Given the description of an element on the screen output the (x, y) to click on. 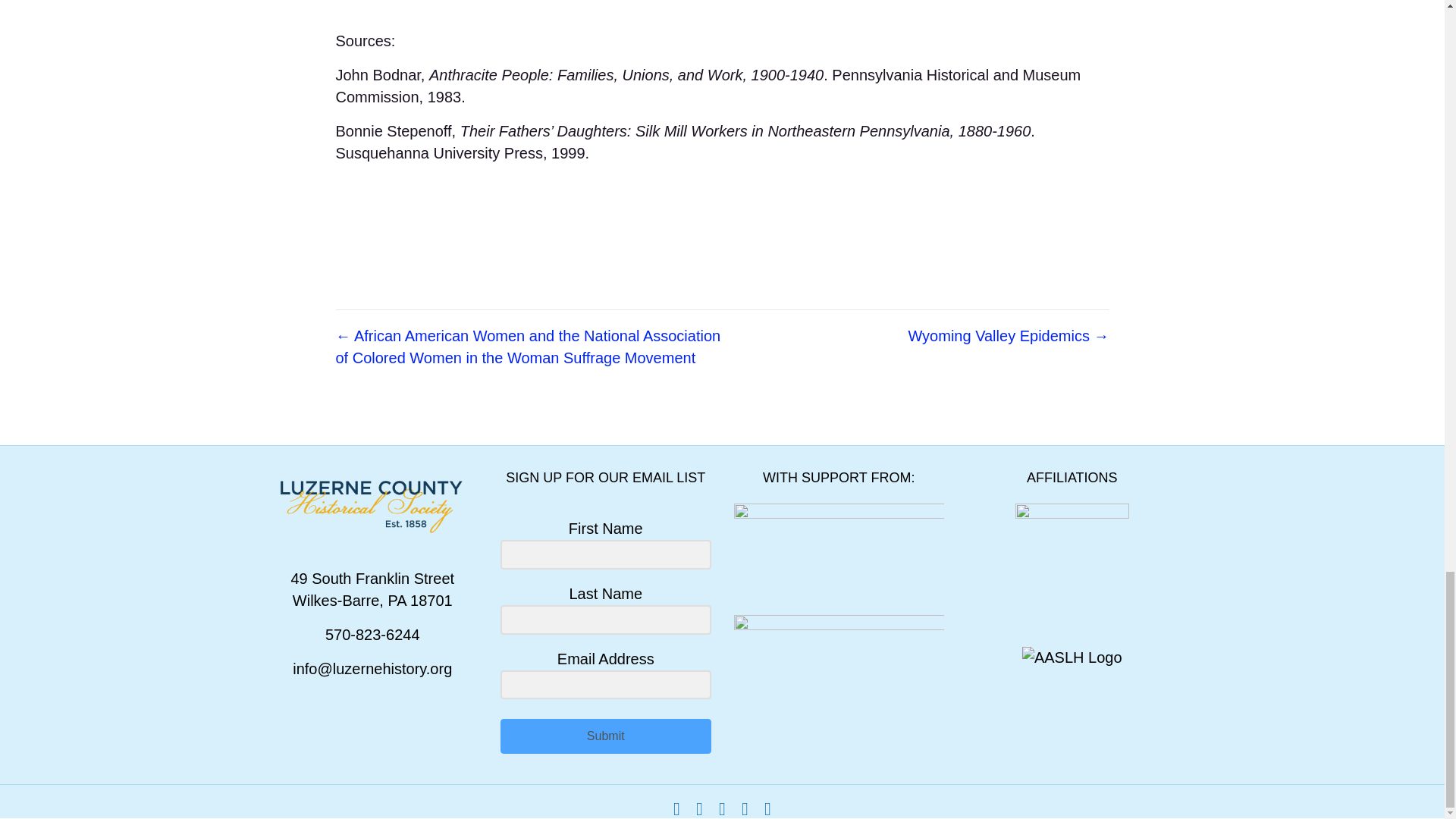
Affiliations (1071, 558)
